Given the description of an element on the screen output the (x, y) to click on. 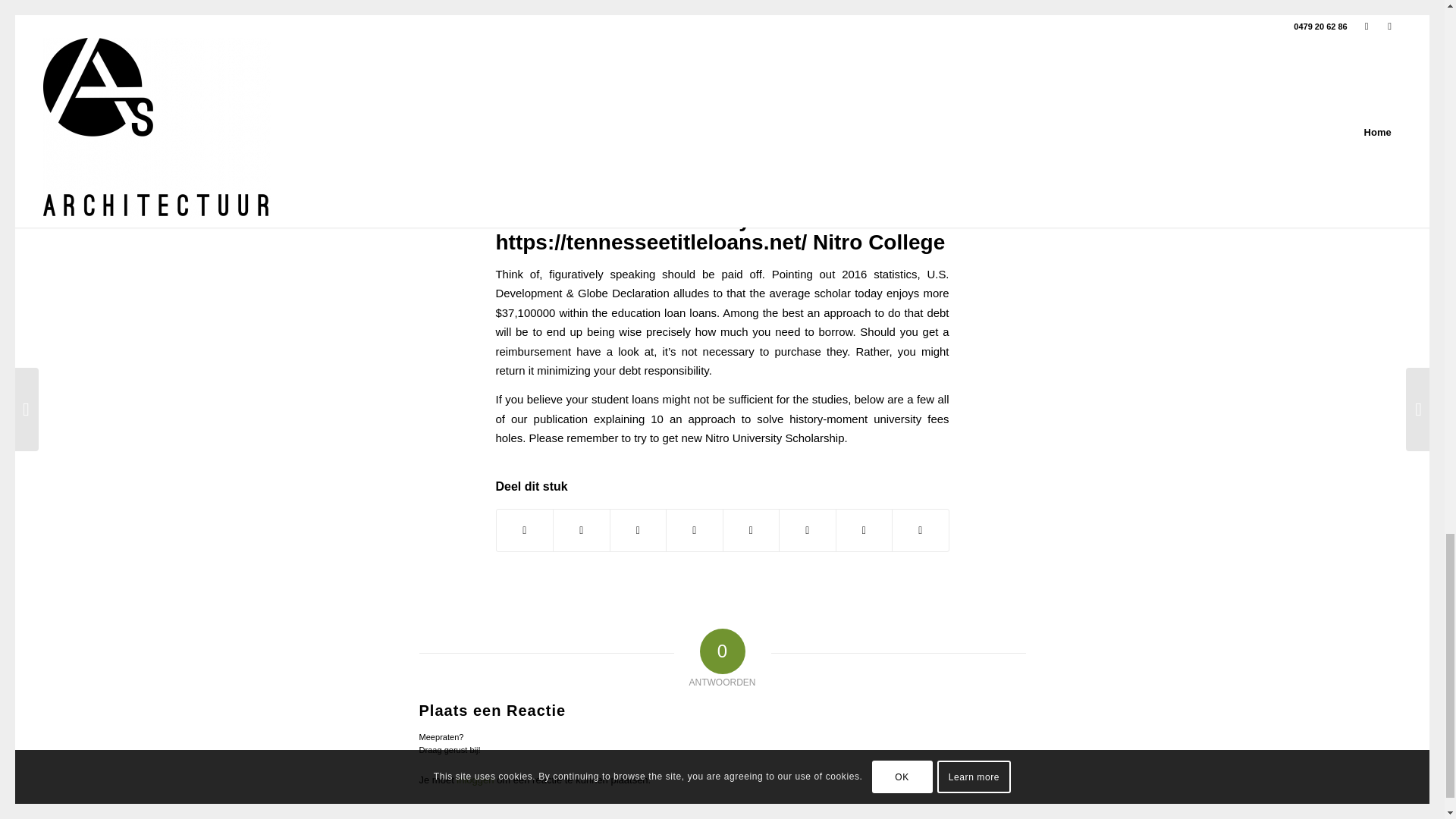
inloggen (475, 779)
